Given the description of an element on the screen output the (x, y) to click on. 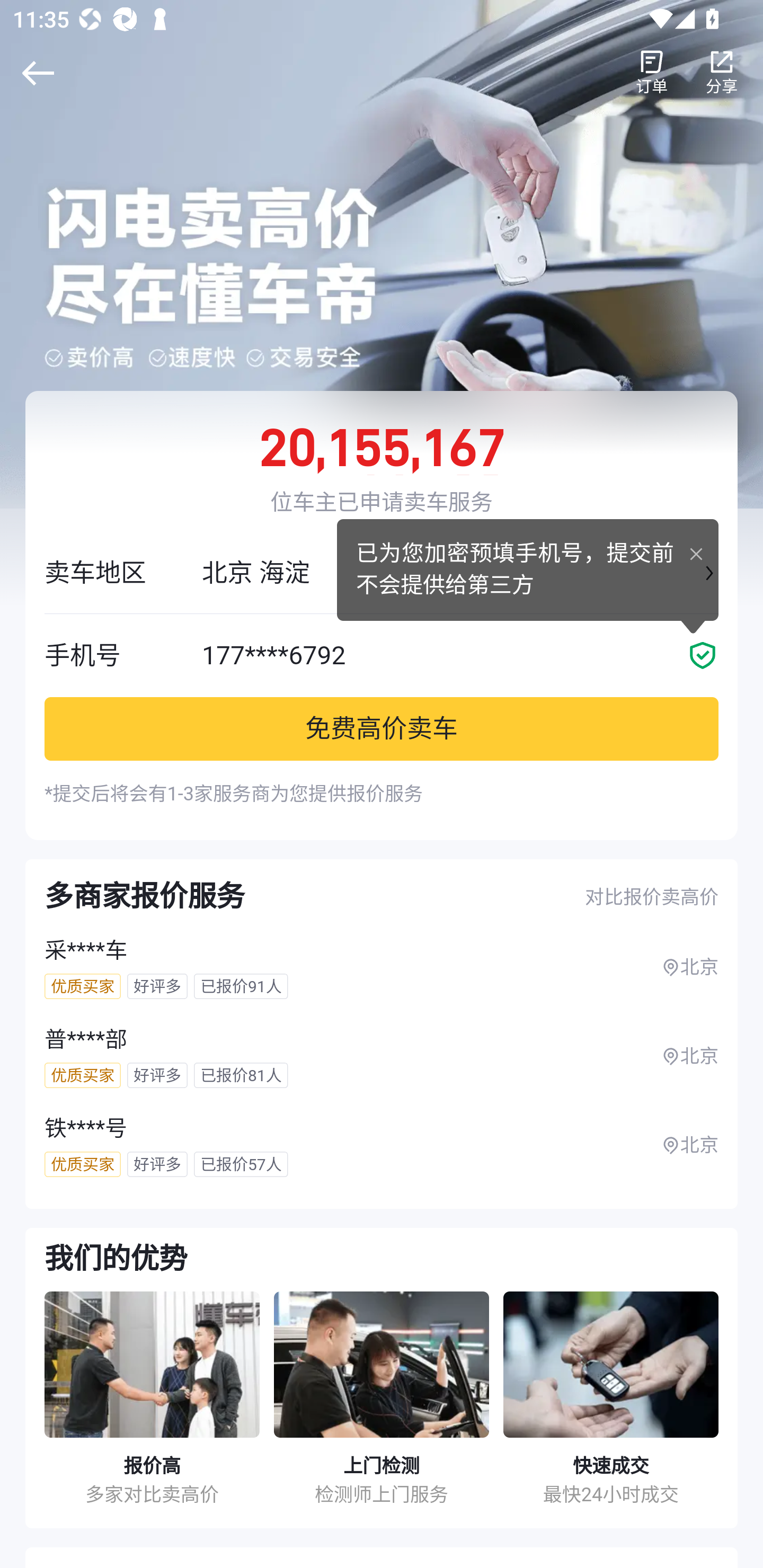
订单 (651, 72)
分享 (721, 72)
已为您加密预填手机号，提交前不会提供给第三方 (527, 568)
177****6792 (460, 655)
免费高价卖车 (381, 728)
